Given the description of an element on the screen output the (x, y) to click on. 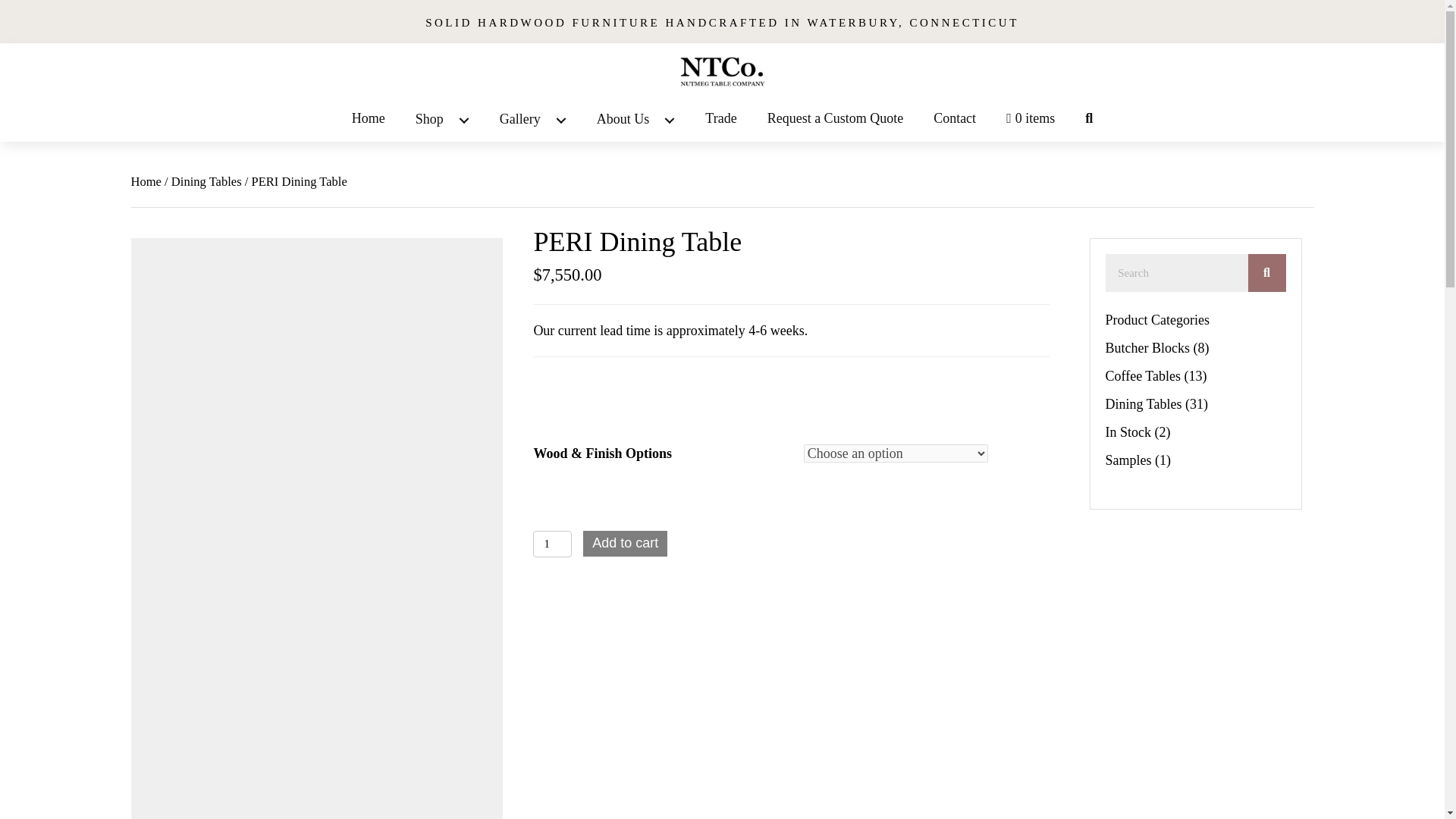
About Us (635, 120)
Home (368, 121)
Gallery (532, 120)
0 items (1030, 121)
1 (552, 543)
Shop (442, 120)
Trade (720, 121)
Contact (954, 121)
Start shopping (1030, 121)
NTC Logo - Rectangle - NO Bkgd. (721, 71)
